Given the description of an element on the screen output the (x, y) to click on. 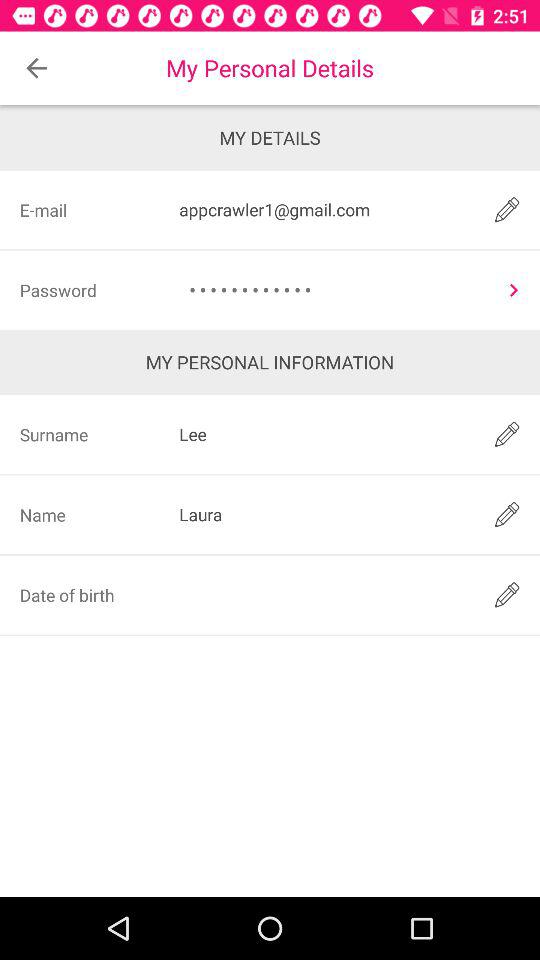
open icon next to surname (323, 434)
